Given the description of an element on the screen output the (x, y) to click on. 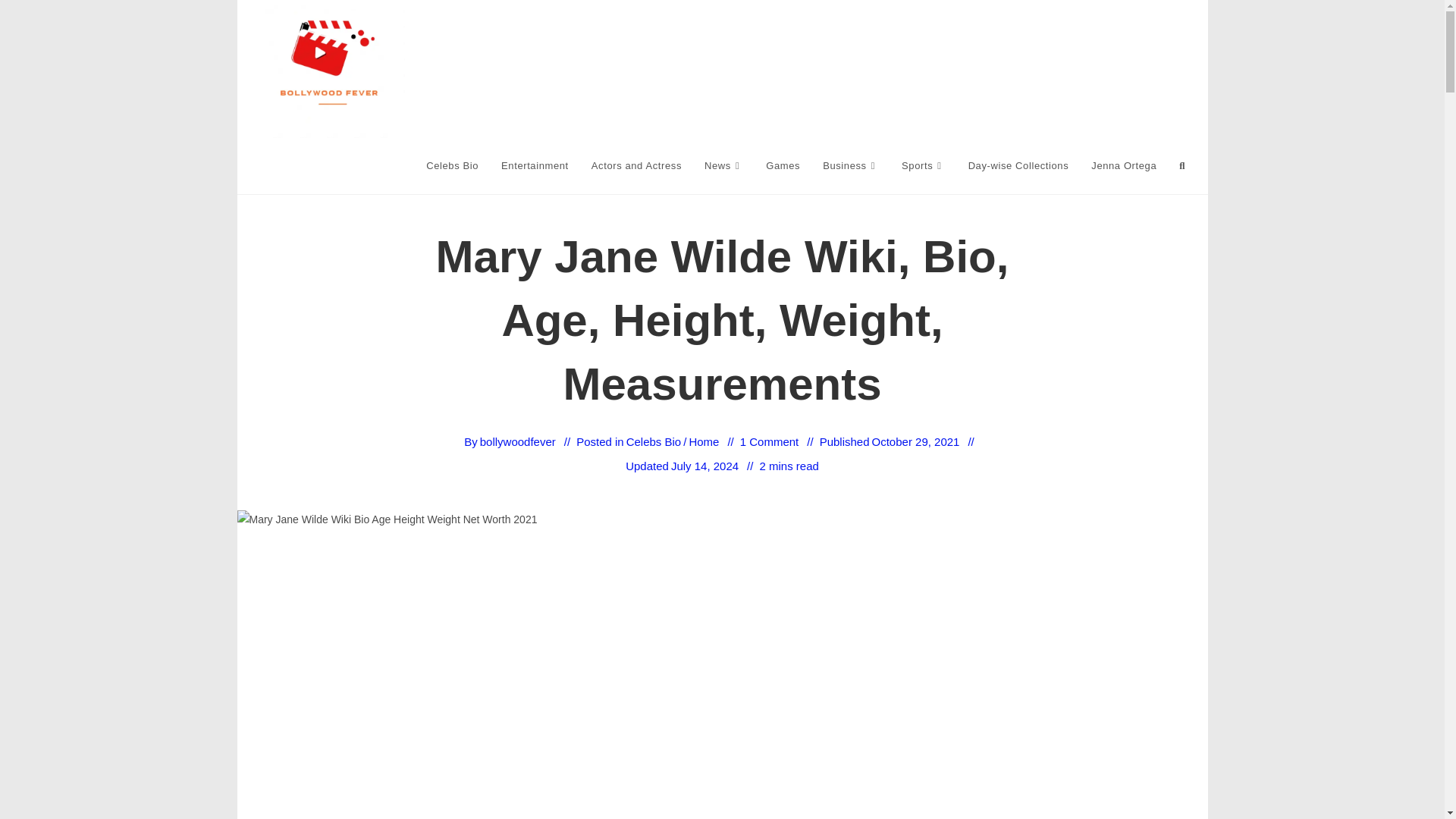
Celebs Bio (451, 166)
Games (782, 166)
Business (849, 166)
News (723, 166)
Actors and Actress (636, 166)
bollywoodfever (518, 441)
Entertainment (534, 166)
Sports (922, 166)
Day-wise Collections (1018, 166)
Jenna Ortega (1123, 166)
